Given the description of an element on the screen output the (x, y) to click on. 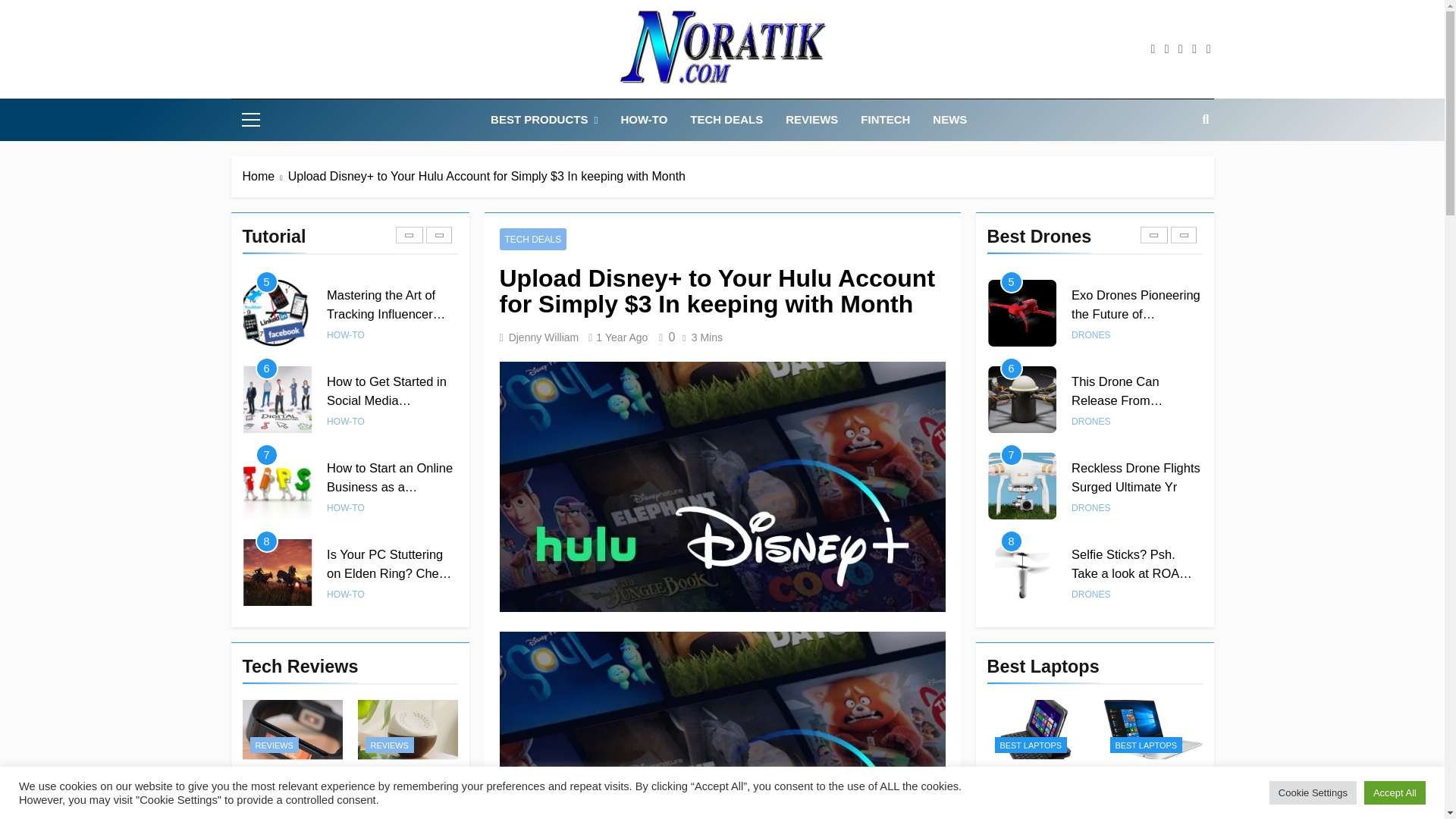
Noratik (537, 107)
